Given the description of an element on the screen output the (x, y) to click on. 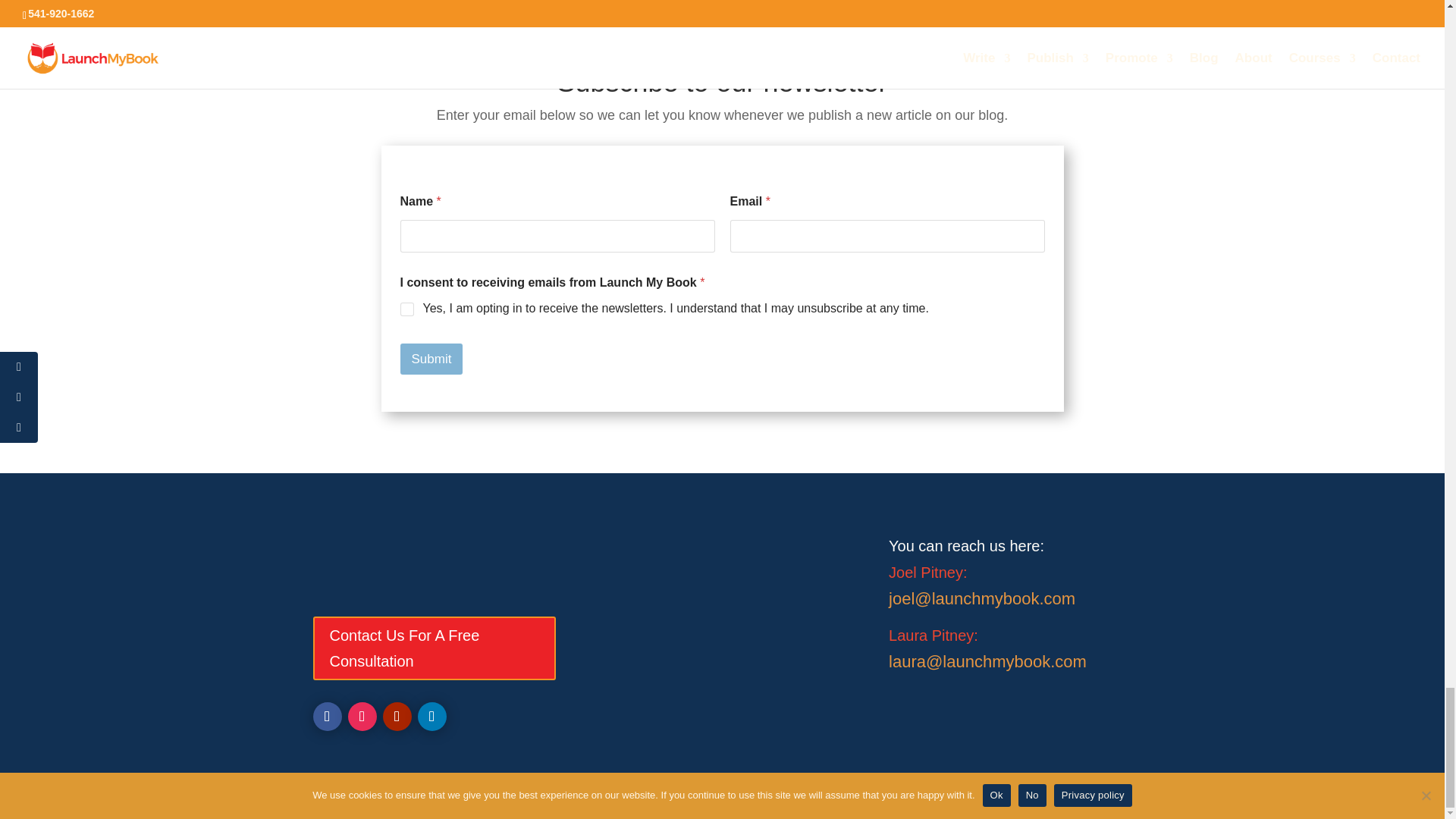
Follow on Youtube (395, 716)
Follow on Instagram (361, 716)
Follow on Facebook (326, 716)
Follow on LinkedIn (430, 716)
